Given the description of an element on the screen output the (x, y) to click on. 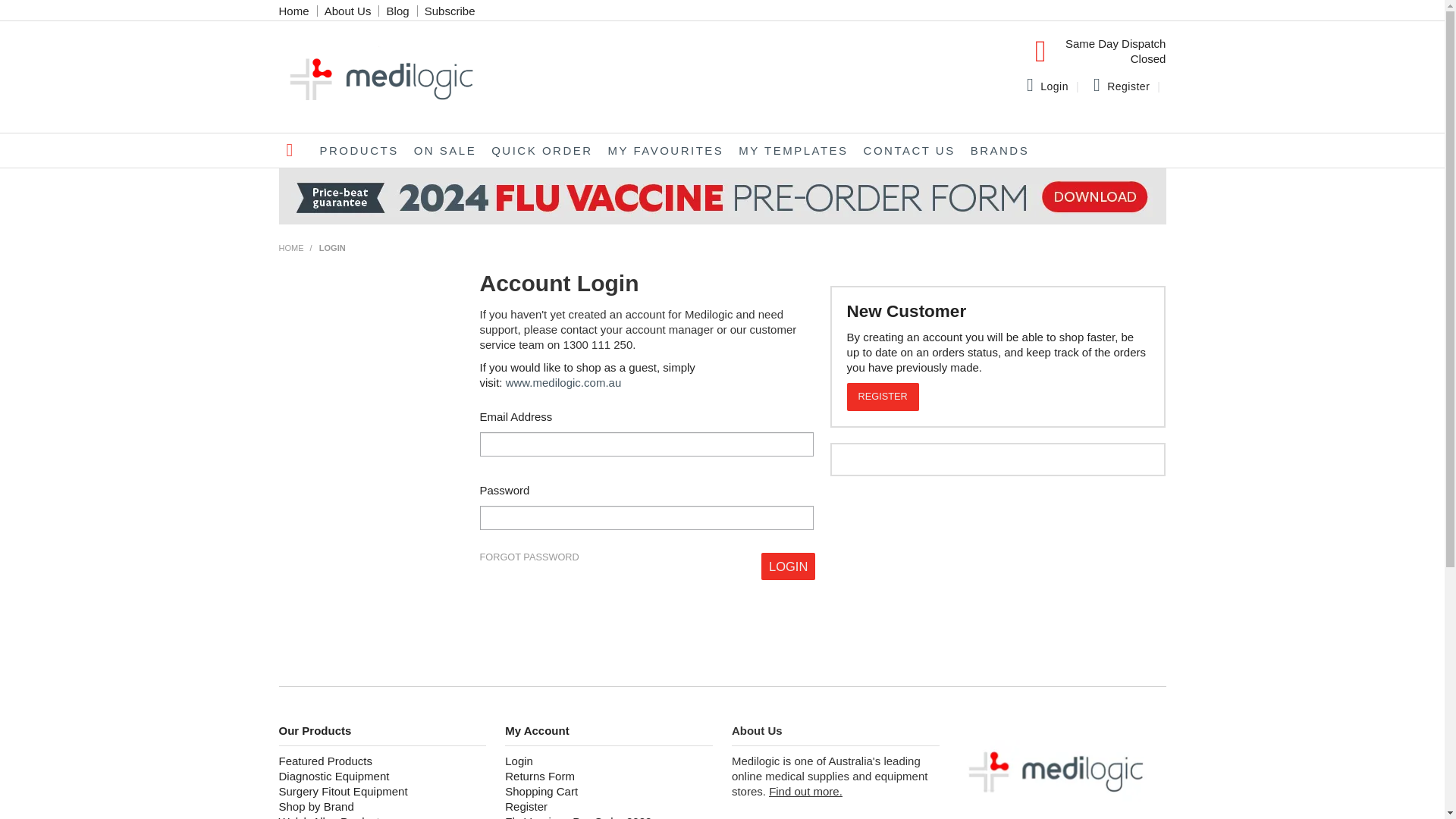
FORGOT PASSWORD Element type: text (528, 557)
Returns Form Element type: text (608, 776)
ON SALE Element type: text (445, 150)
Home Element type: text (294, 10)
www.medilogic.com.au Element type: text (563, 382)
Diagnostic Equipment Element type: text (382, 776)
PRODUCTS Element type: text (359, 150)
About Us Element type: text (347, 10)
Find out more. Element type: text (805, 790)
REGISTER Element type: text (883, 396)
Subscribe Element type: text (449, 10)
Surgery Fitout Equipment Element type: text (382, 791)
Login Element type: text (1054, 86)
Blog Element type: text (397, 10)
QUICK ORDER Element type: text (541, 150)
Register Element type: text (608, 806)
Featured Products Element type: text (382, 760)
MY TEMPLATES Element type: text (793, 150)
Register Element type: text (1128, 86)
HOME Element type: text (295, 149)
CONTACT US Element type: text (909, 150)
Shopping Cart Element type: text (608, 791)
BRANDS Element type: text (1000, 150)
HOME Element type: text (291, 247)
Login Element type: text (788, 566)
MY FAVOURITES Element type: text (665, 150)
Shop by Brand Element type: text (382, 806)
Login Element type: text (608, 760)
